Given the description of an element on the screen output the (x, y) to click on. 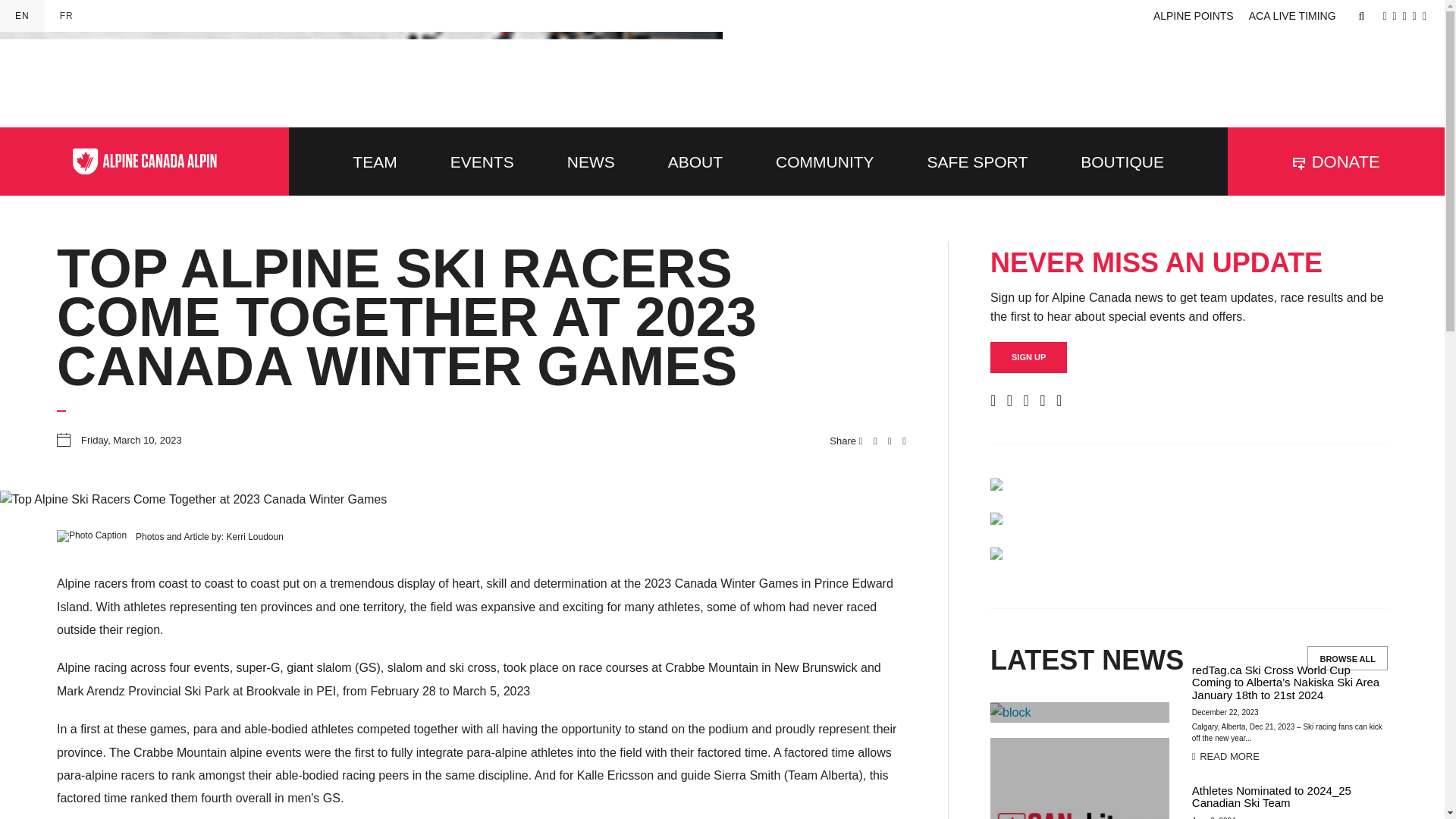
ALPINE POINTS (1193, 15)
FR (66, 15)
Search (1361, 15)
English (22, 15)
ACA LIVE TIMING (1292, 15)
EN (22, 15)
